Given the description of an element on the screen output the (x, y) to click on. 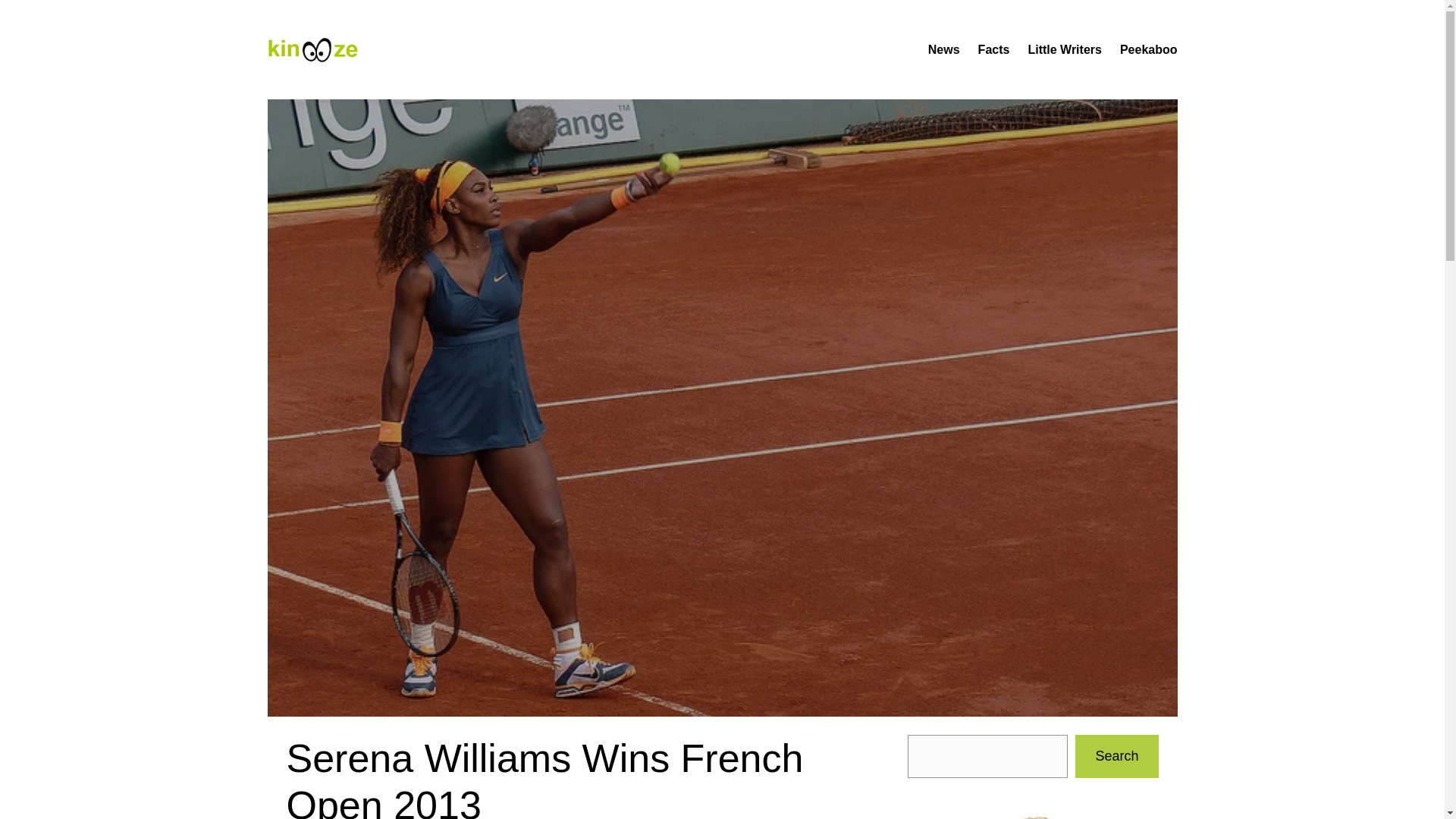
Peekaboo (1148, 49)
Little Writers (1064, 49)
Facts (994, 49)
News (943, 49)
Search (1116, 756)
